Given the description of an element on the screen output the (x, y) to click on. 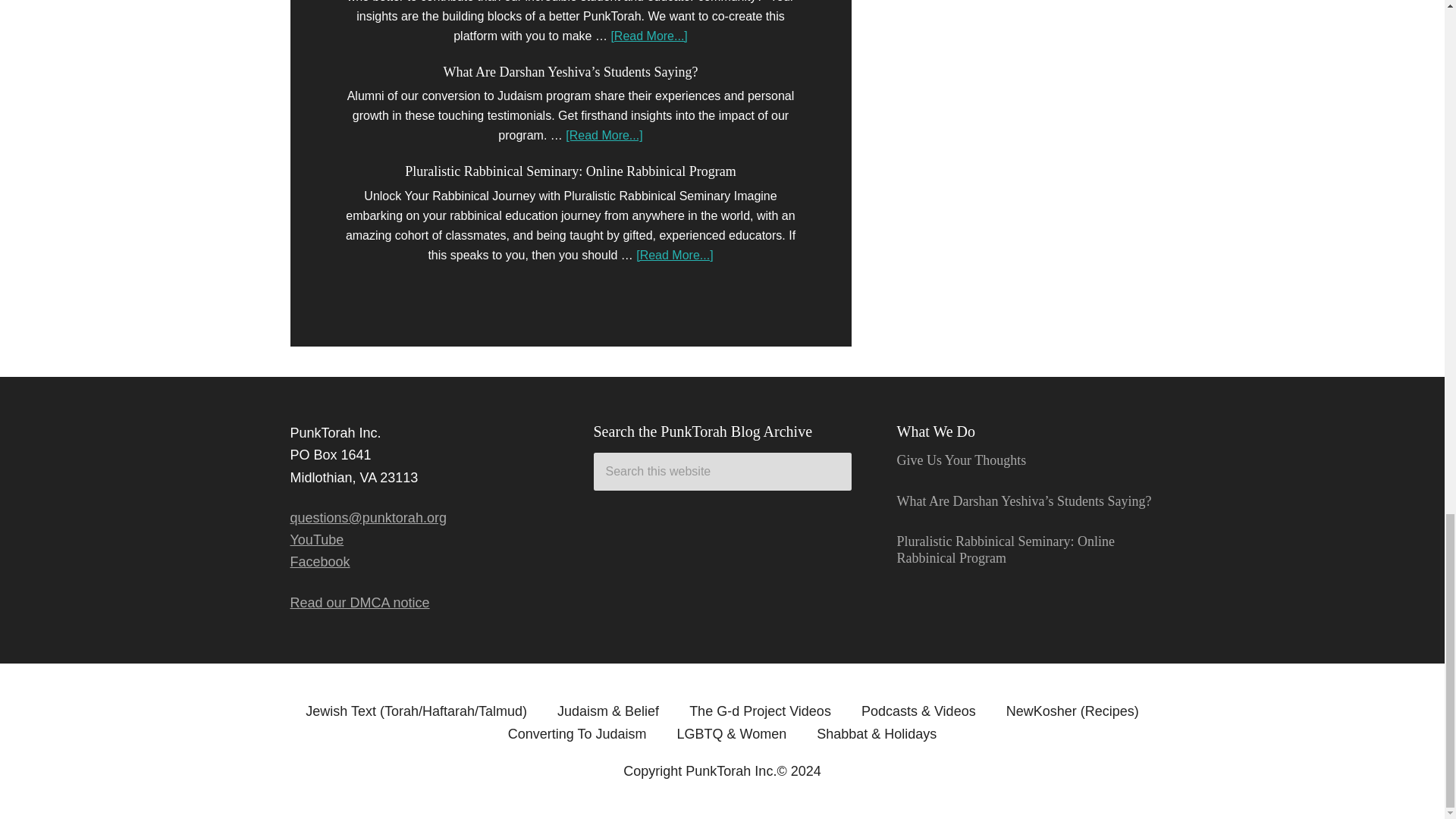
Read our DMCA notice (359, 602)
Give Us Your Thoughts (961, 459)
Pluralistic Rabbinical Seminary: Online Rabbinical Program (569, 171)
YouTube (316, 539)
Facebook (319, 561)
The G-d Project Videos (759, 711)
Pluralistic Rabbinical Seminary: Online Rabbinical Program (1004, 549)
